Given the description of an element on the screen output the (x, y) to click on. 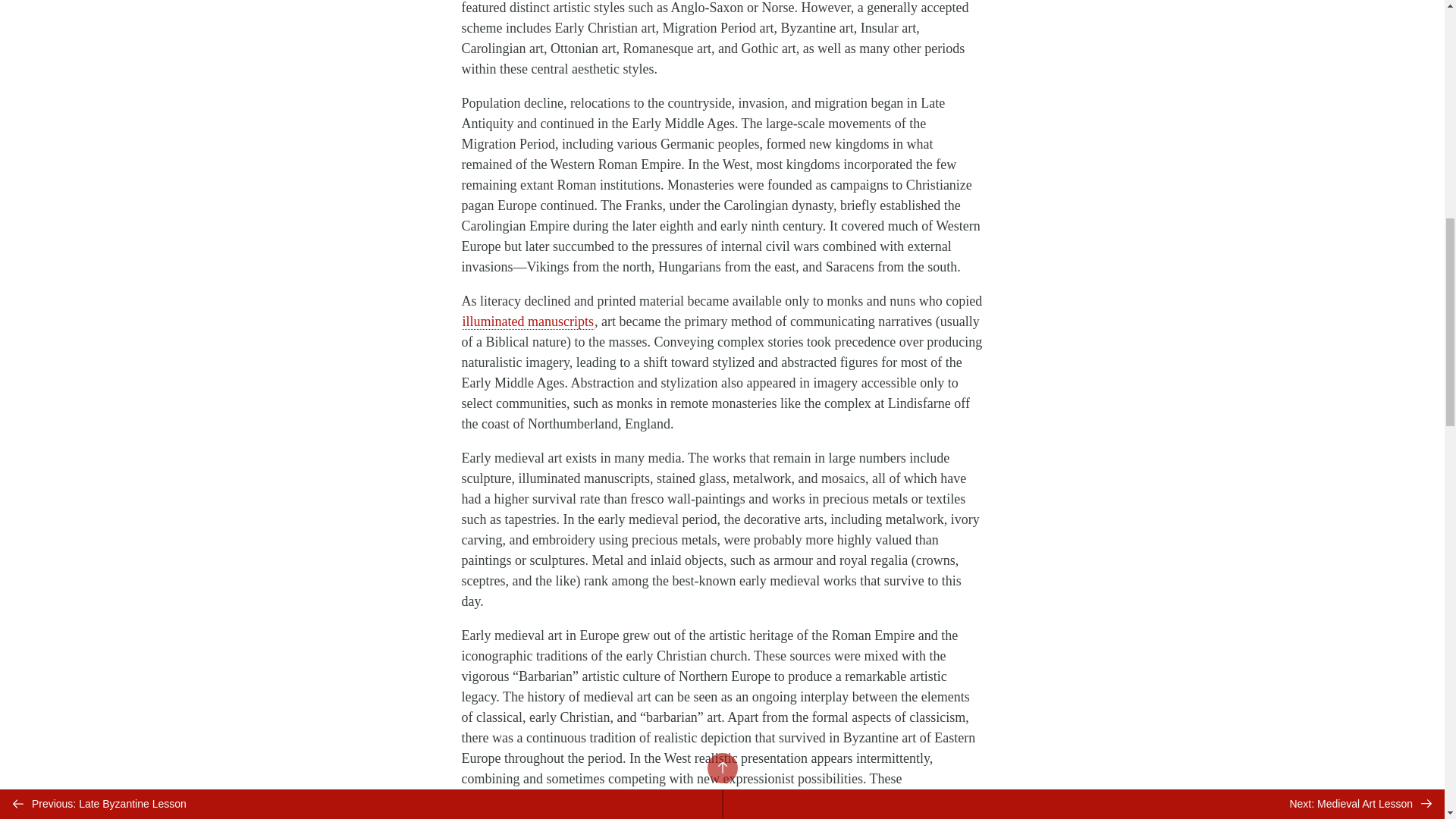
illuminated manuscripts (527, 321)
